Given the description of an element on the screen output the (x, y) to click on. 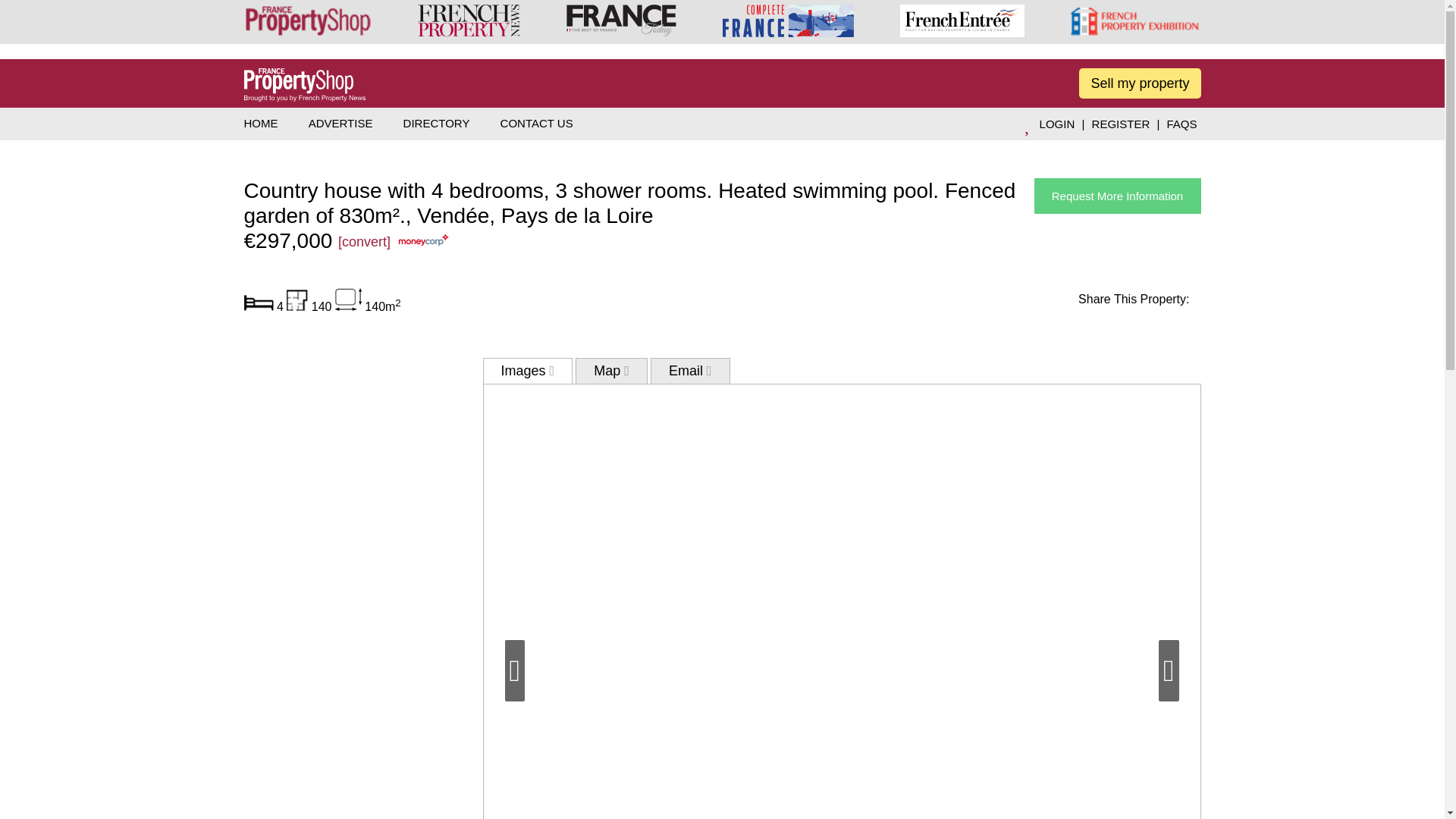
LOGIN (1056, 123)
HOME (261, 123)
Request More Information (1117, 195)
REGISTER (1120, 123)
DIRECTORY (436, 123)
Map (611, 370)
Sell my property (1138, 82)
ADVERTISE (340, 123)
Email (690, 370)
CONTACT US (536, 123)
Images (526, 370)
FAQS (1180, 123)
